Given the description of an element on the screen output the (x, y) to click on. 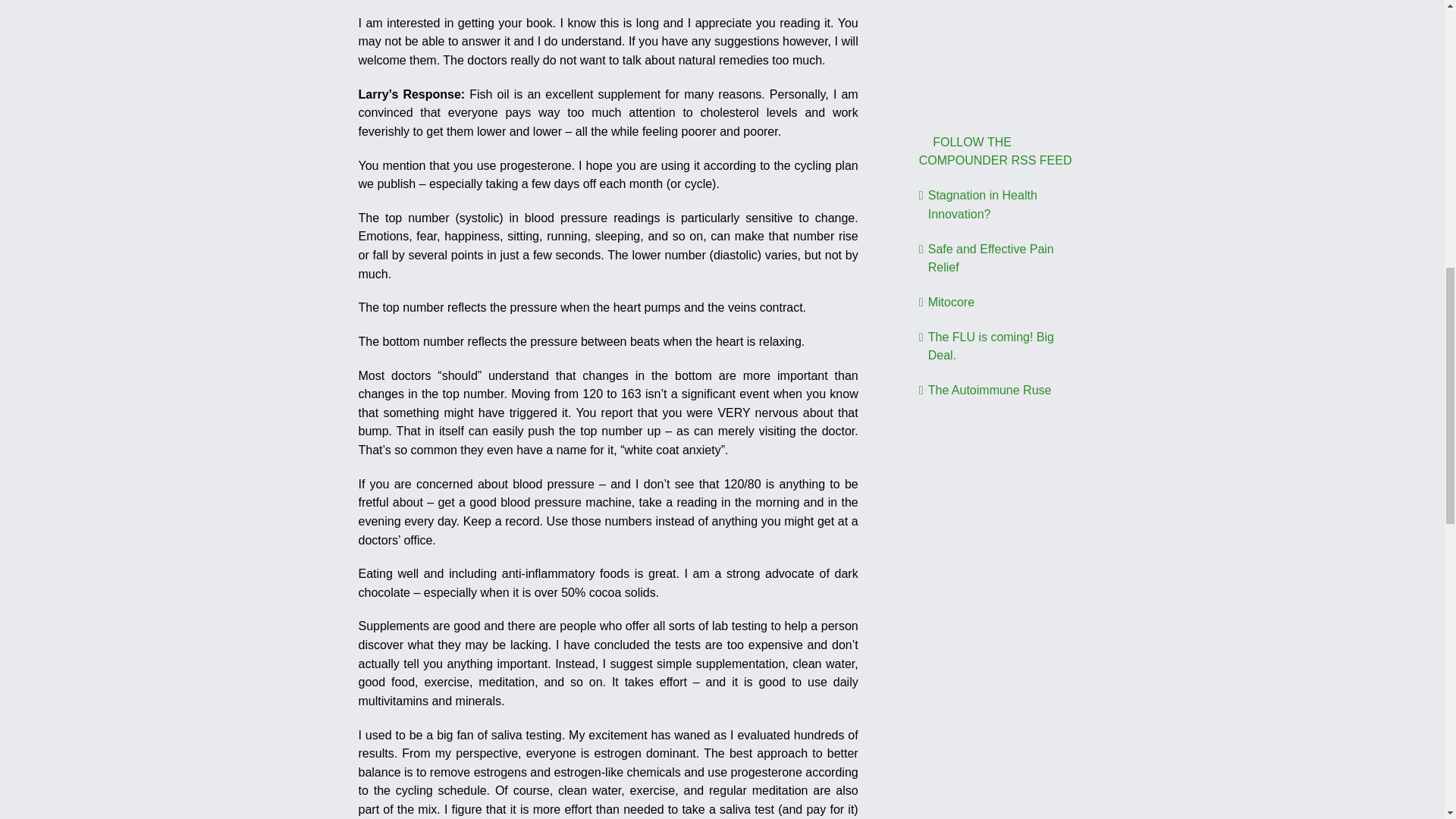
FOLLOW THE COMPOUNDER RSS FEED (994, 151)
Stagnation in Health Innovation? (982, 204)
Safe and Effective Pain Relief (991, 258)
